Given the description of an element on the screen output the (x, y) to click on. 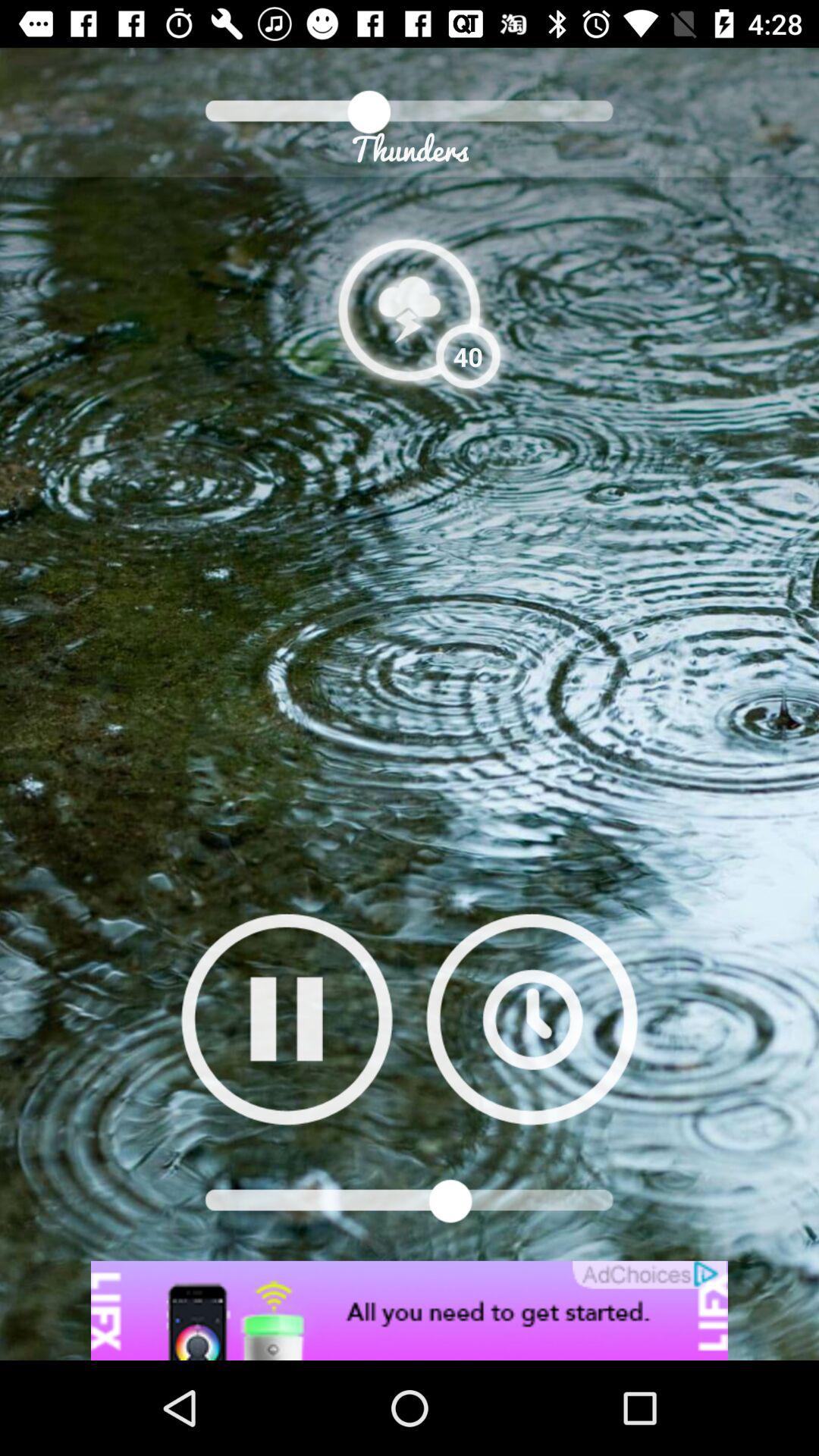
external advertisement (409, 1310)
